Given the description of an element on the screen output the (x, y) to click on. 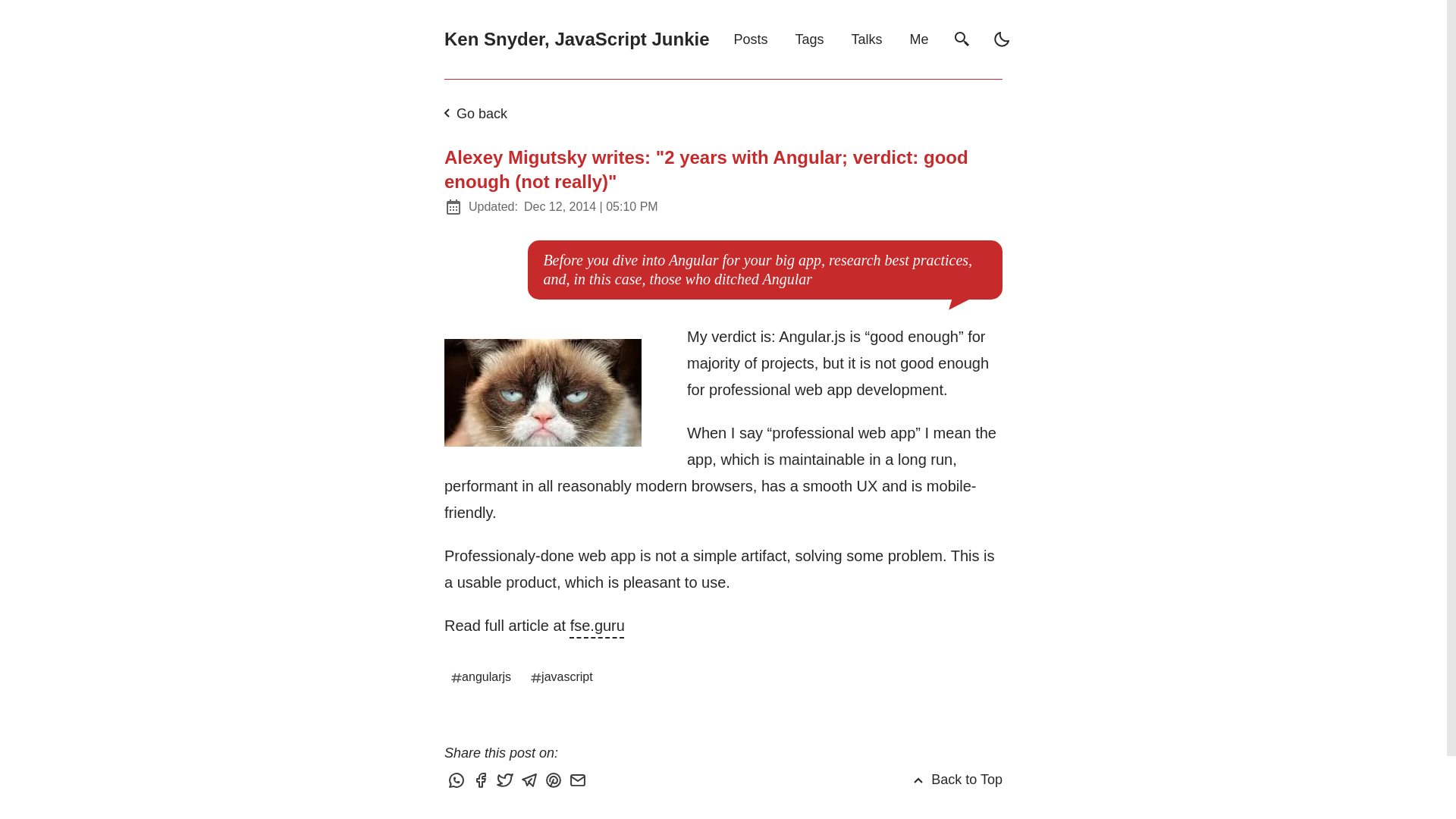
fse.guru (597, 625)
Tweet this post (506, 781)
Talks (866, 38)
Back to Top (955, 779)
Share this post on Facebook (482, 781)
javascript (562, 676)
Share this post via email (579, 781)
Share this post on Pinterest (555, 781)
Posts (751, 38)
Share this post on Facebook (482, 781)
